Given the description of an element on the screen output the (x, y) to click on. 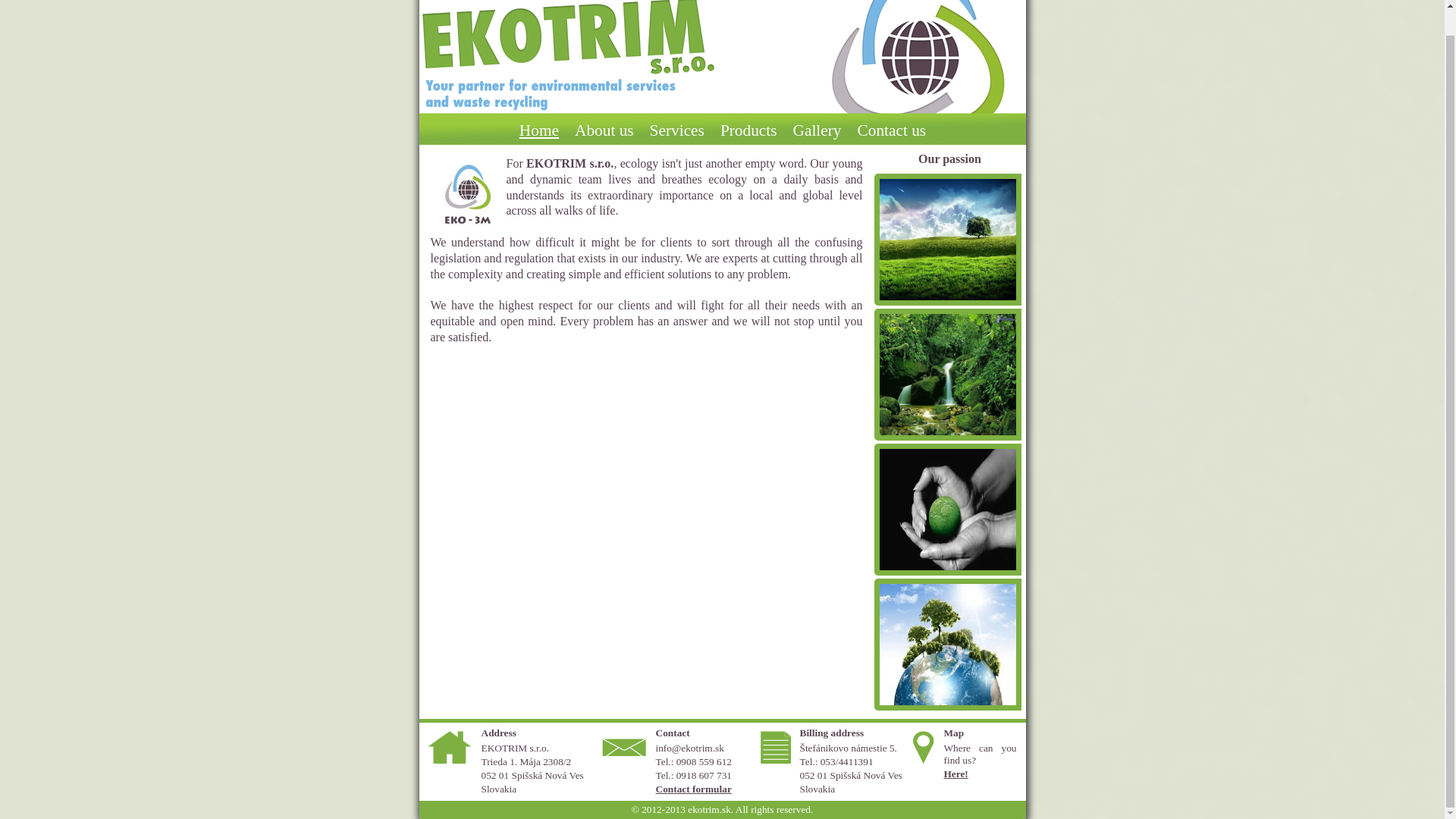
About us (604, 130)
Services (676, 130)
Home (539, 130)
Here! (955, 773)
Products (748, 130)
Gallery (817, 130)
Contact formular (692, 788)
Contact us (890, 130)
